Given the description of an element on the screen output the (x, y) to click on. 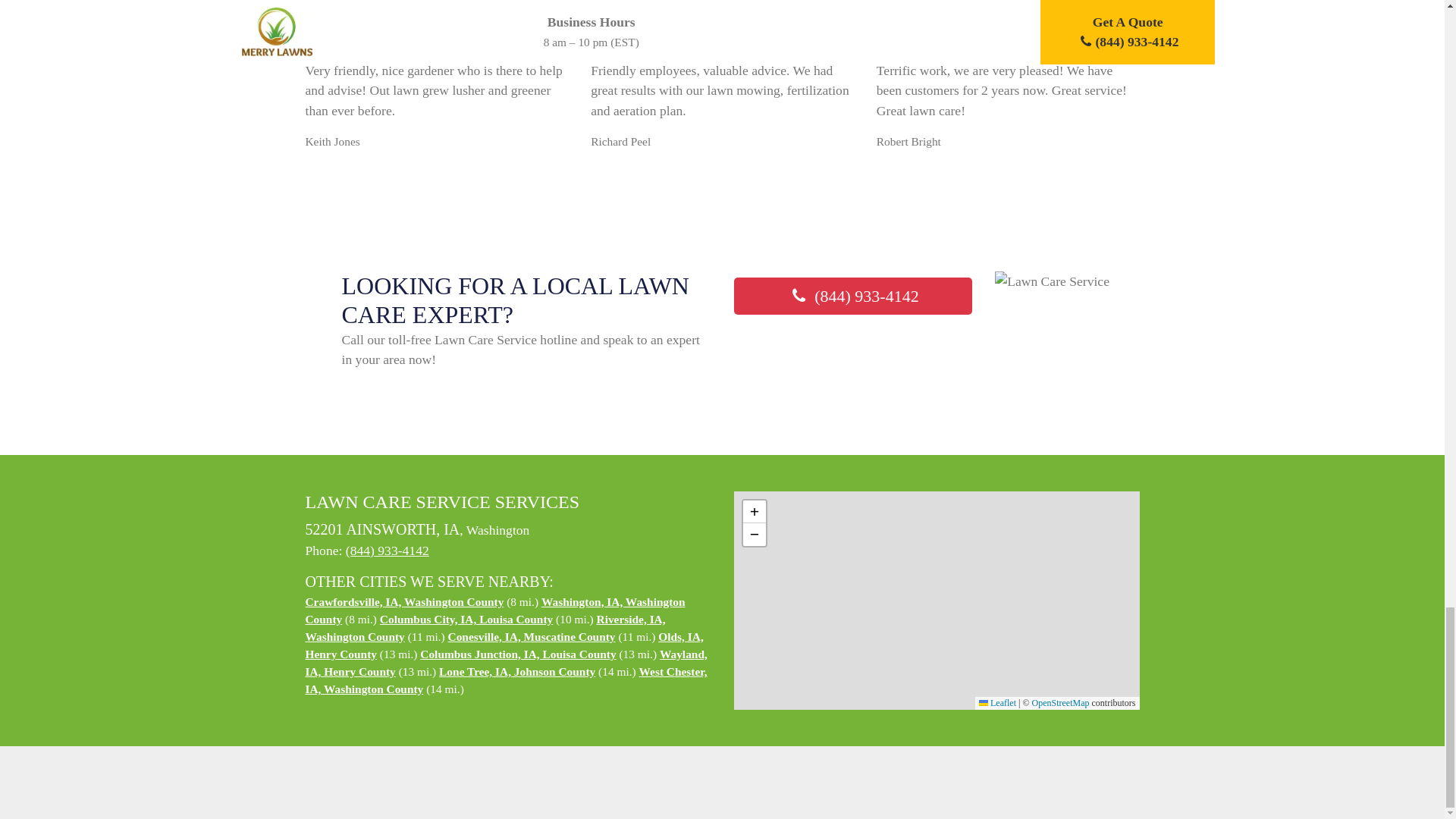
A JavaScript library for interactive maps (997, 702)
Leaflet (997, 702)
Zoom in (753, 511)
Conesville, IA, Muscatine County (531, 635)
Call a Lawn Care Expert (852, 295)
Crawfordsville, IA, Washington County (403, 601)
Lone Tree, IA, Johnson County (517, 671)
OpenStreetMap (1060, 702)
Wayland, IA, Henry County (505, 662)
Columbus City, IA, Louisa County (466, 618)
